Given the description of an element on the screen output the (x, y) to click on. 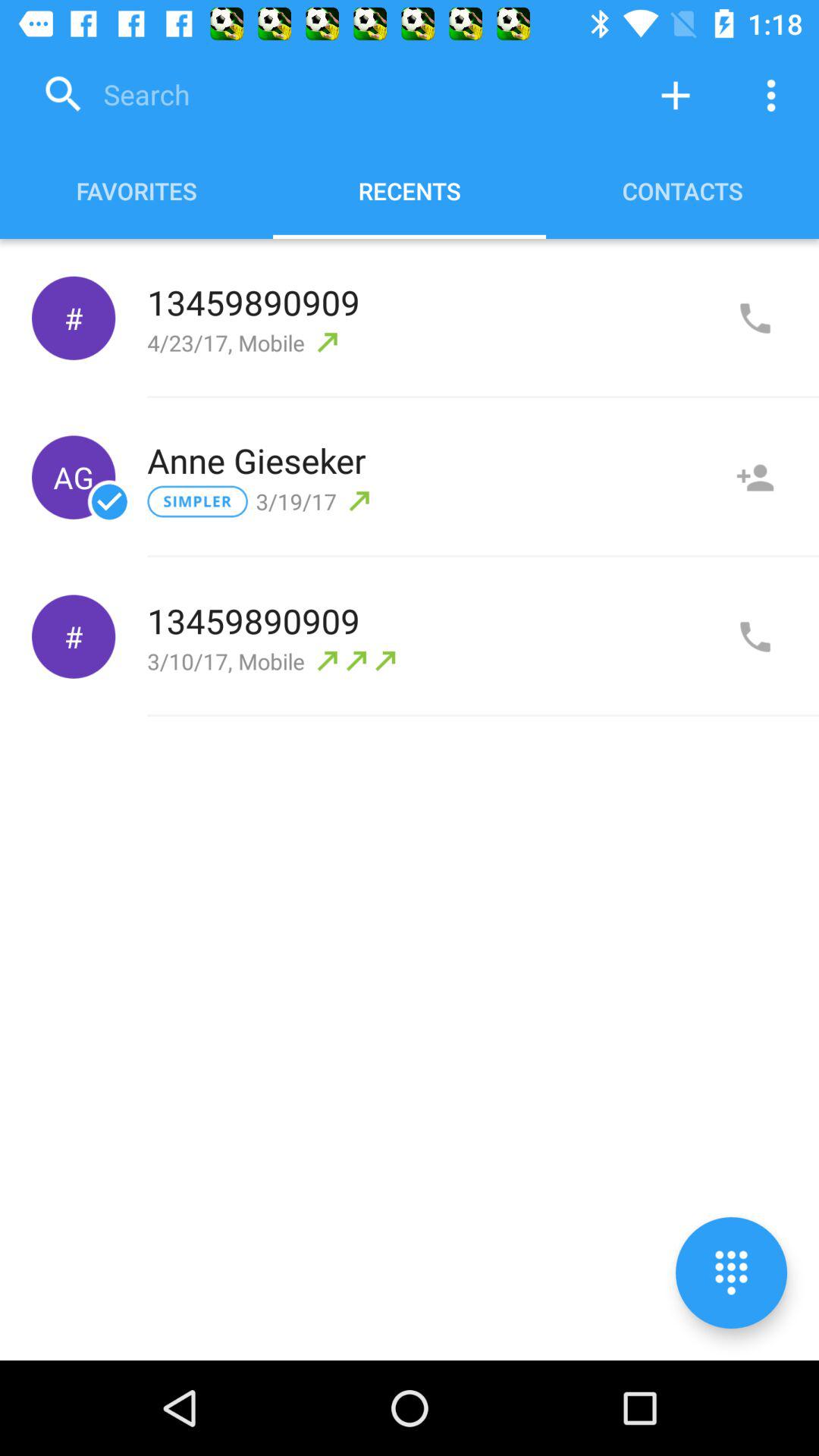
call button (755, 636)
